Given the description of an element on the screen output the (x, y) to click on. 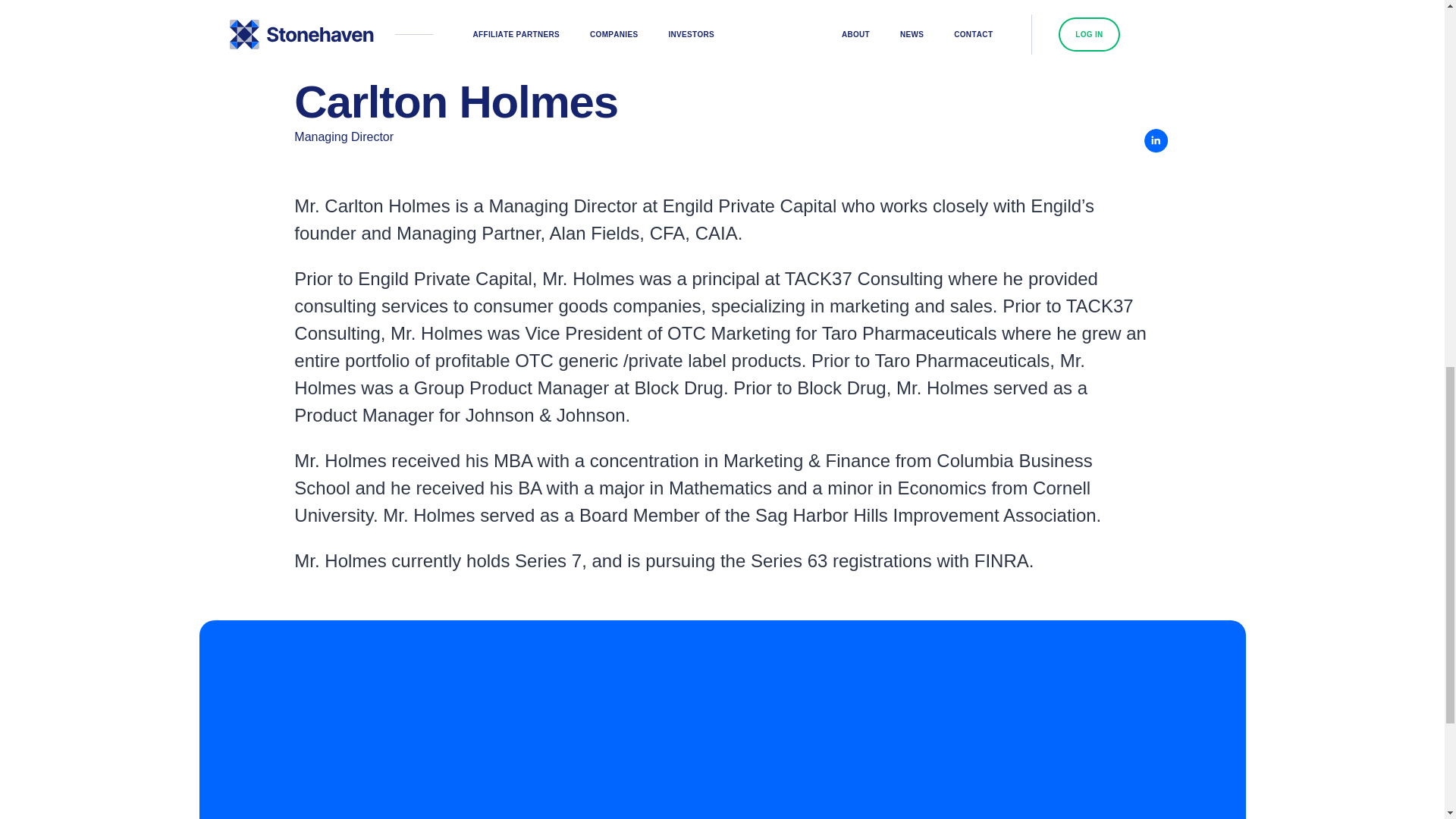
FINRA (829, 0)
FINRA (1001, 560)
